Given the description of an element on the screen output the (x, y) to click on. 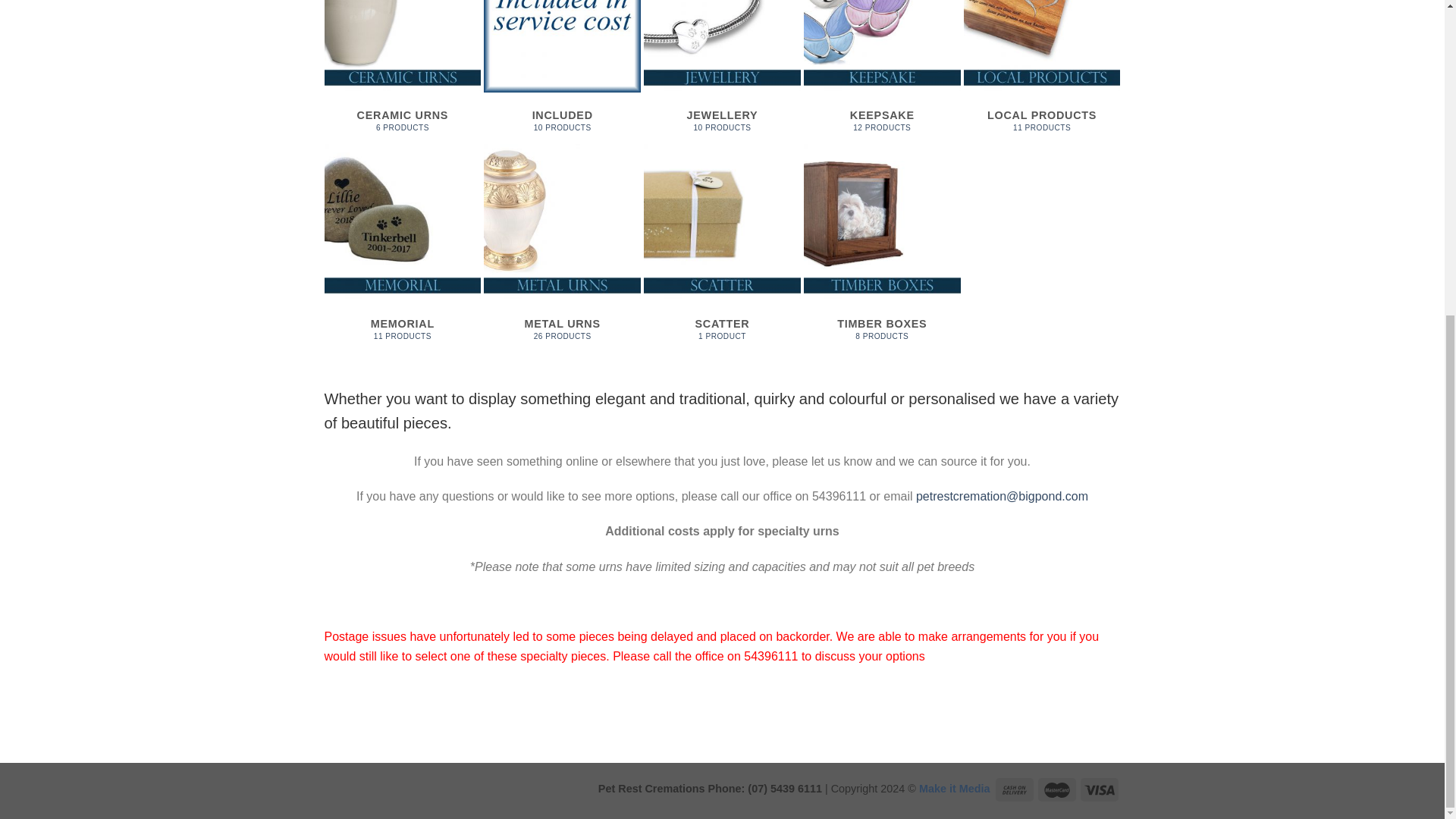
Make it Media (721, 70)
